Given the description of an element on the screen output the (x, y) to click on. 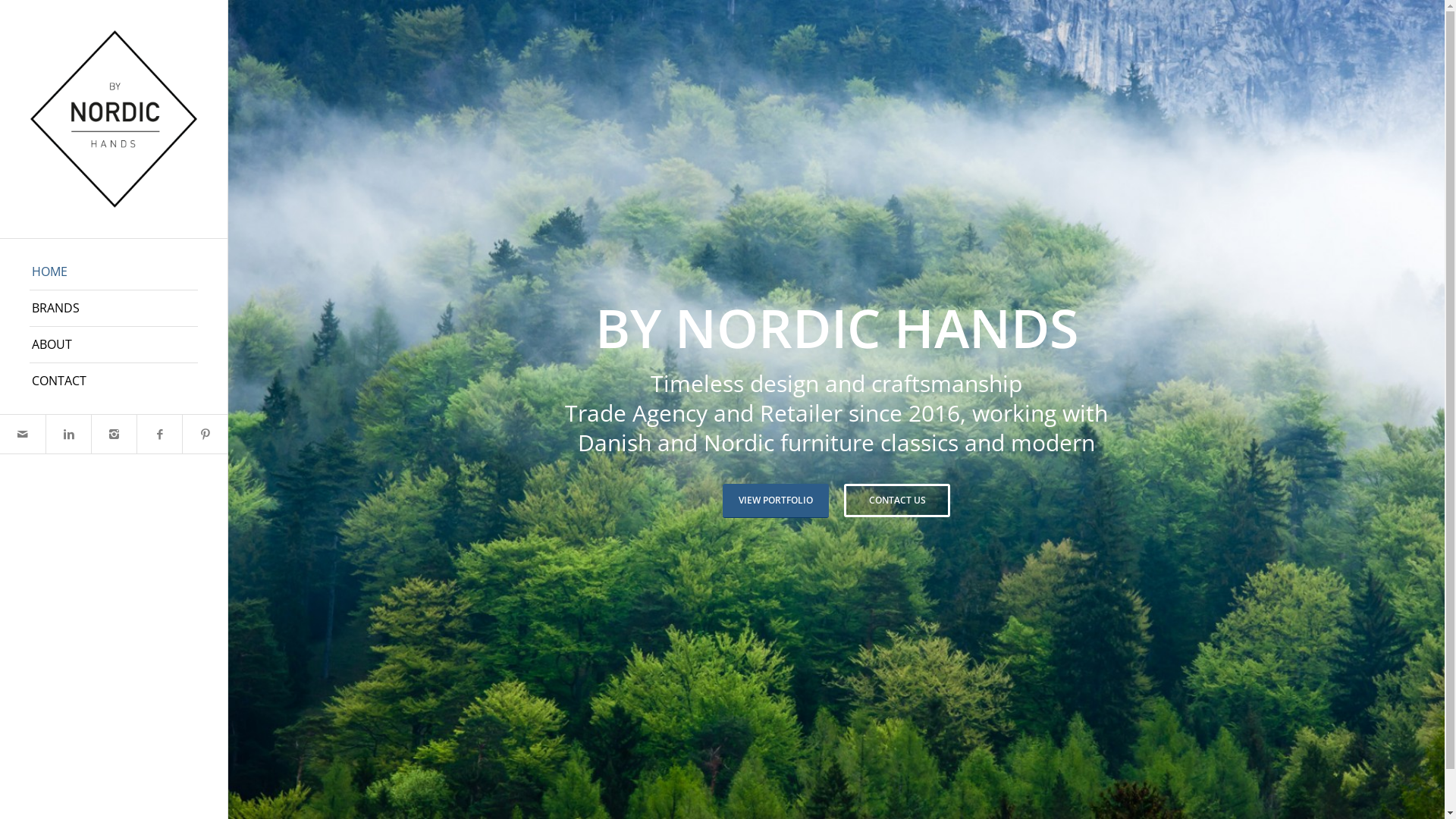
VIEW PORTFOLIO Element type: text (775, 493)
CONTACT Element type: text (113, 380)
Instagram Element type: hover (113, 433)
HOME Element type: text (113, 272)
Mail Element type: hover (22, 433)
BRANDS Element type: text (113, 308)
CONTACT US Element type: text (897, 493)
ABOUT Element type: text (113, 344)
Linkedin Element type: hover (68, 433)
Pinterest Element type: hover (204, 433)
Facebook Element type: hover (159, 433)
